Given the description of an element on the screen output the (x, y) to click on. 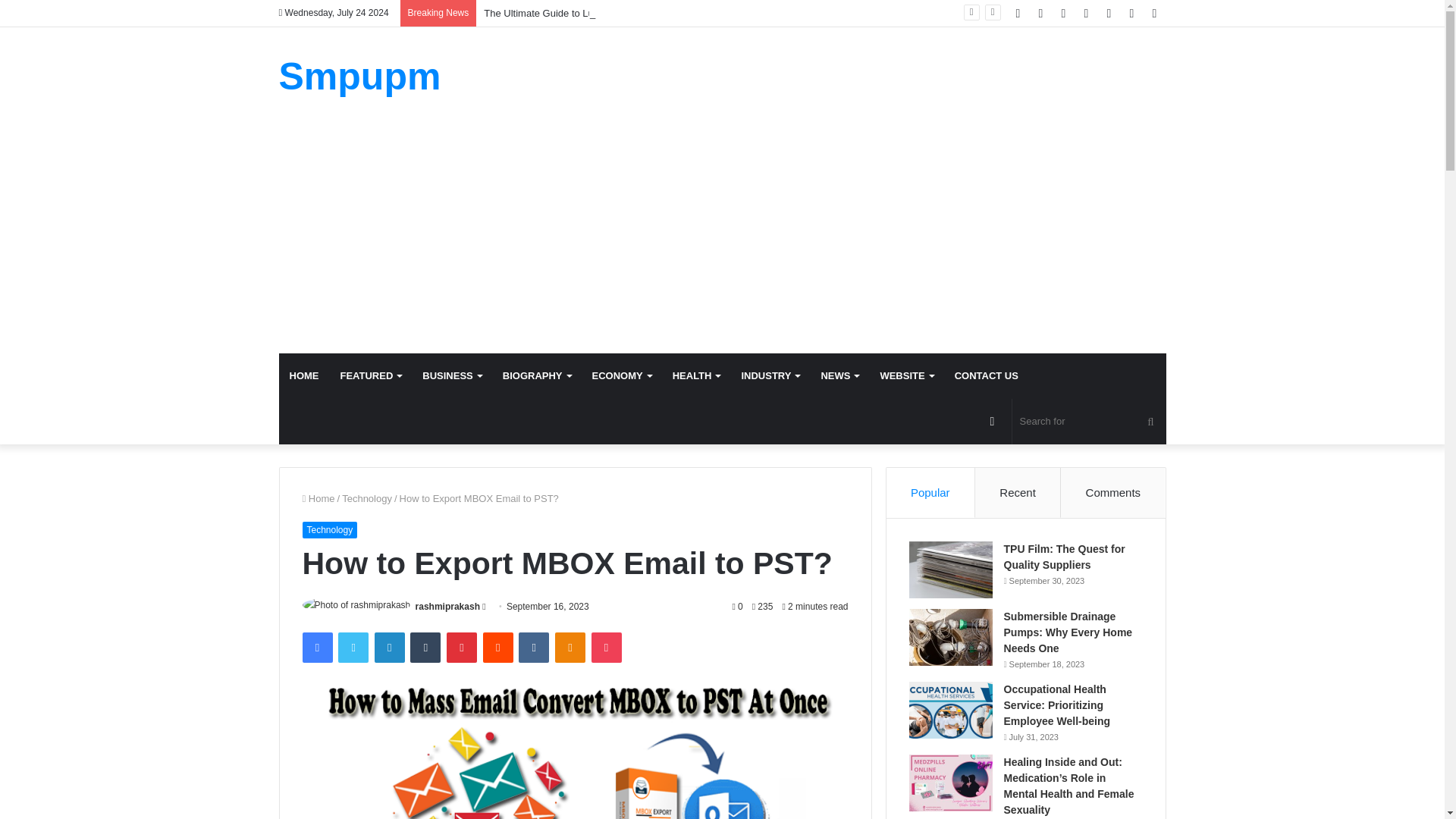
ECONOMY (621, 375)
Search for (1088, 421)
Twitter (352, 647)
Tumblr (425, 647)
rashmiprakash (447, 606)
FEATURED (370, 375)
Reddit (498, 647)
INDUSTRY (769, 375)
HOME (304, 375)
Smpupm (360, 76)
Smpupm (360, 76)
BUSINESS (452, 375)
HEALTH (696, 375)
